Given the description of an element on the screen output the (x, y) to click on. 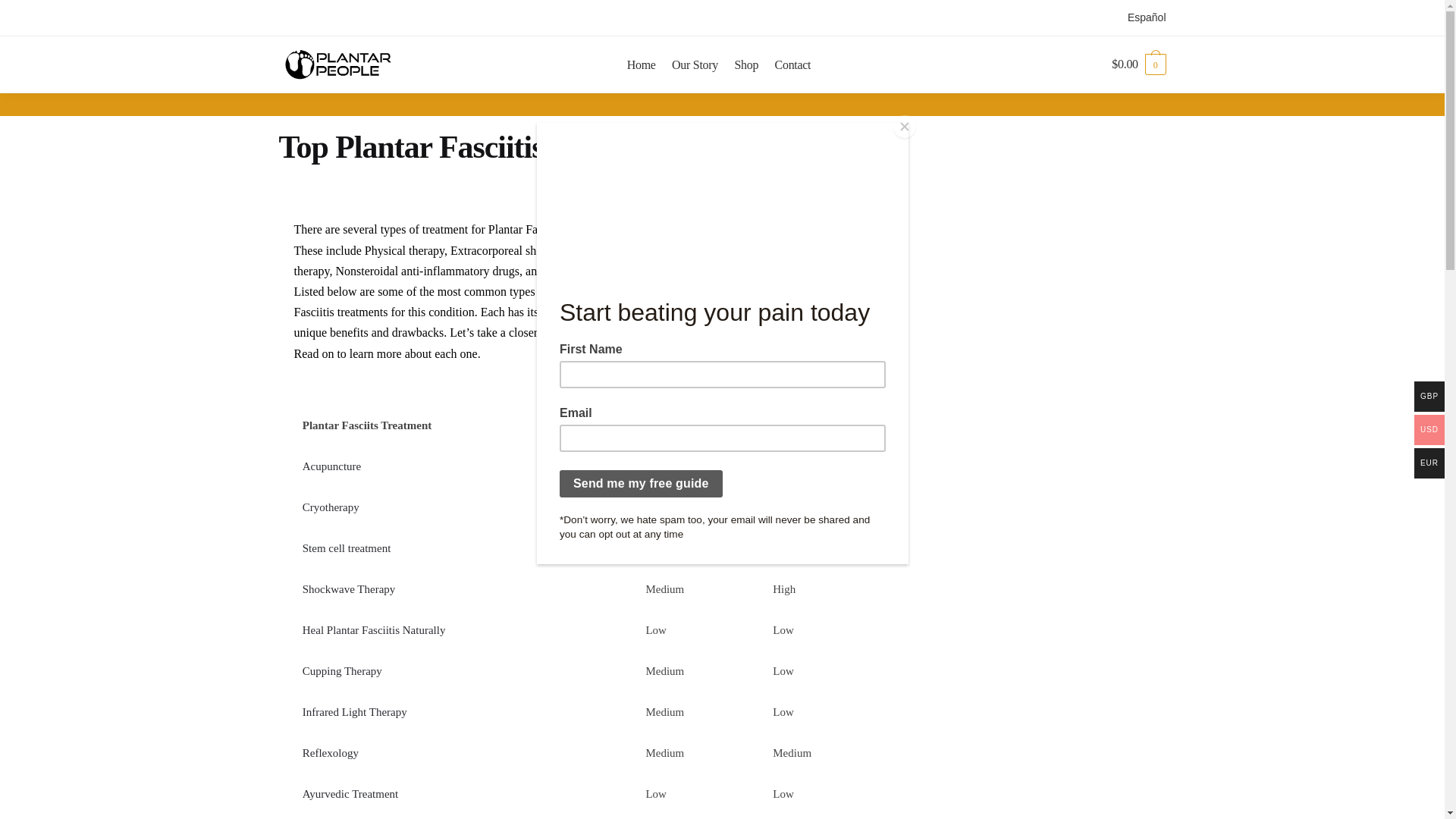
View your shopping cart (1139, 63)
Ayurvedic Treatment (350, 793)
Infrared Light Therapy (354, 711)
Shockwave Therapy (349, 589)
Stem cell treatment (346, 548)
Cryotherapy (330, 507)
Reflexology (330, 752)
Heal Plantar Fasciitis Naturally (373, 630)
Cupping Therapy (341, 671)
Acupuncture (331, 466)
Our Story (694, 64)
